Given the description of an element on the screen output the (x, y) to click on. 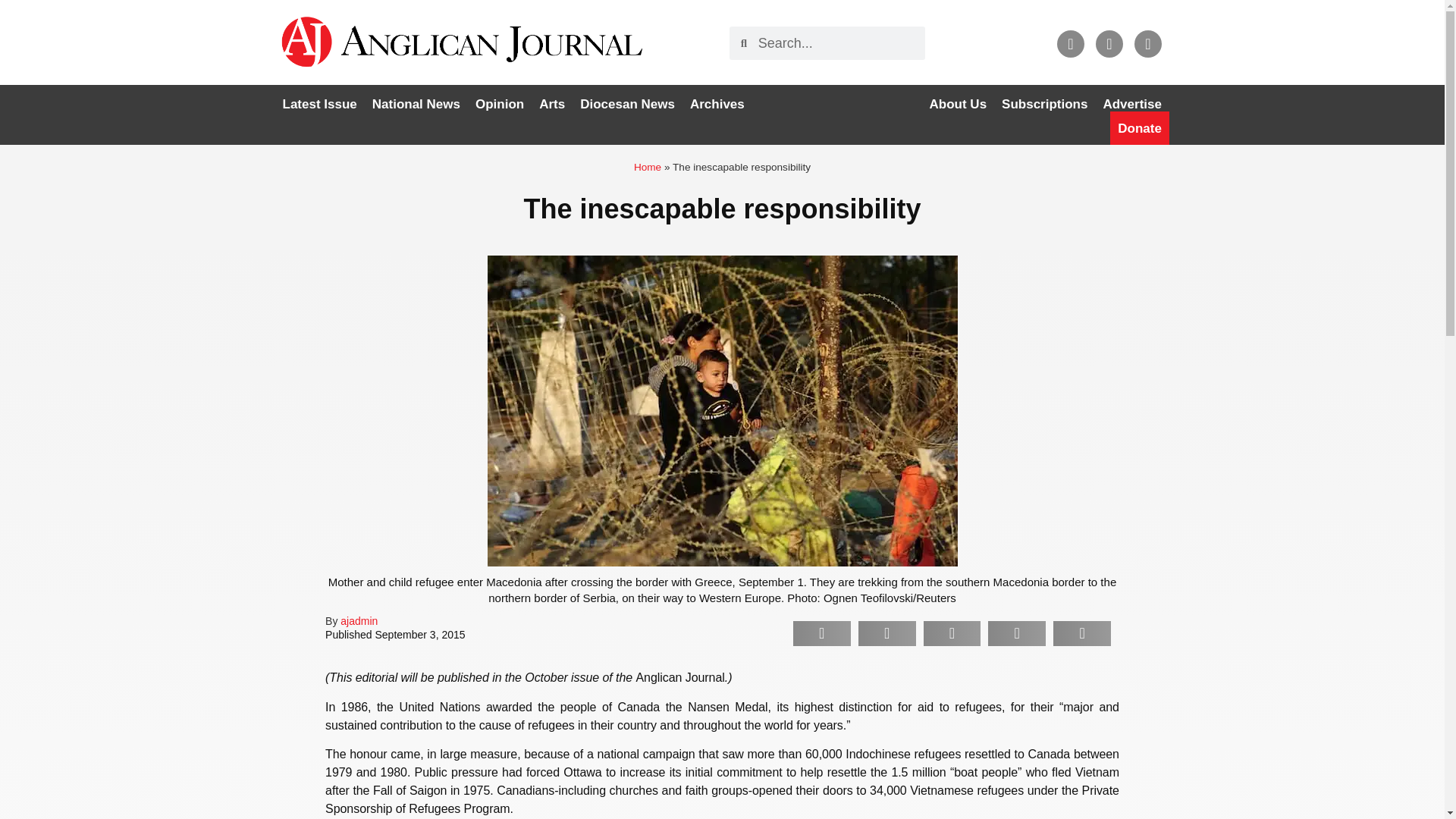
ajadmin (358, 621)
About Us (957, 104)
Opinion (499, 104)
Diocesan News (627, 104)
Subscriptions (1044, 104)
Archives (717, 104)
Advertise (1131, 104)
Latest Issue (319, 104)
National News (416, 104)
Arts (551, 104)
